Given the description of an element on the screen output the (x, y) to click on. 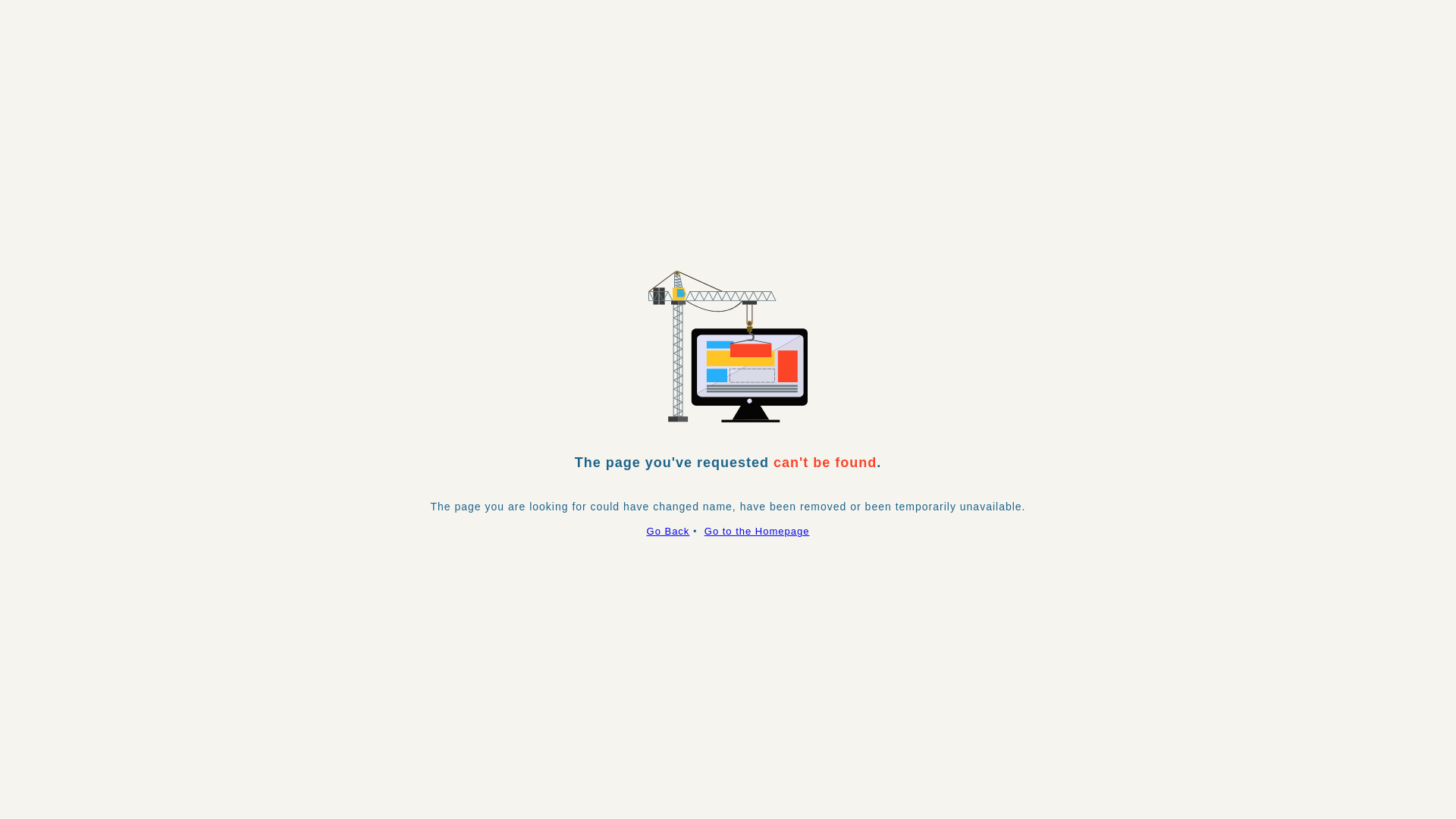
Go Back Element type: text (668, 530)
Go to the Homepage Element type: text (756, 530)
